Given the description of an element on the screen output the (x, y) to click on. 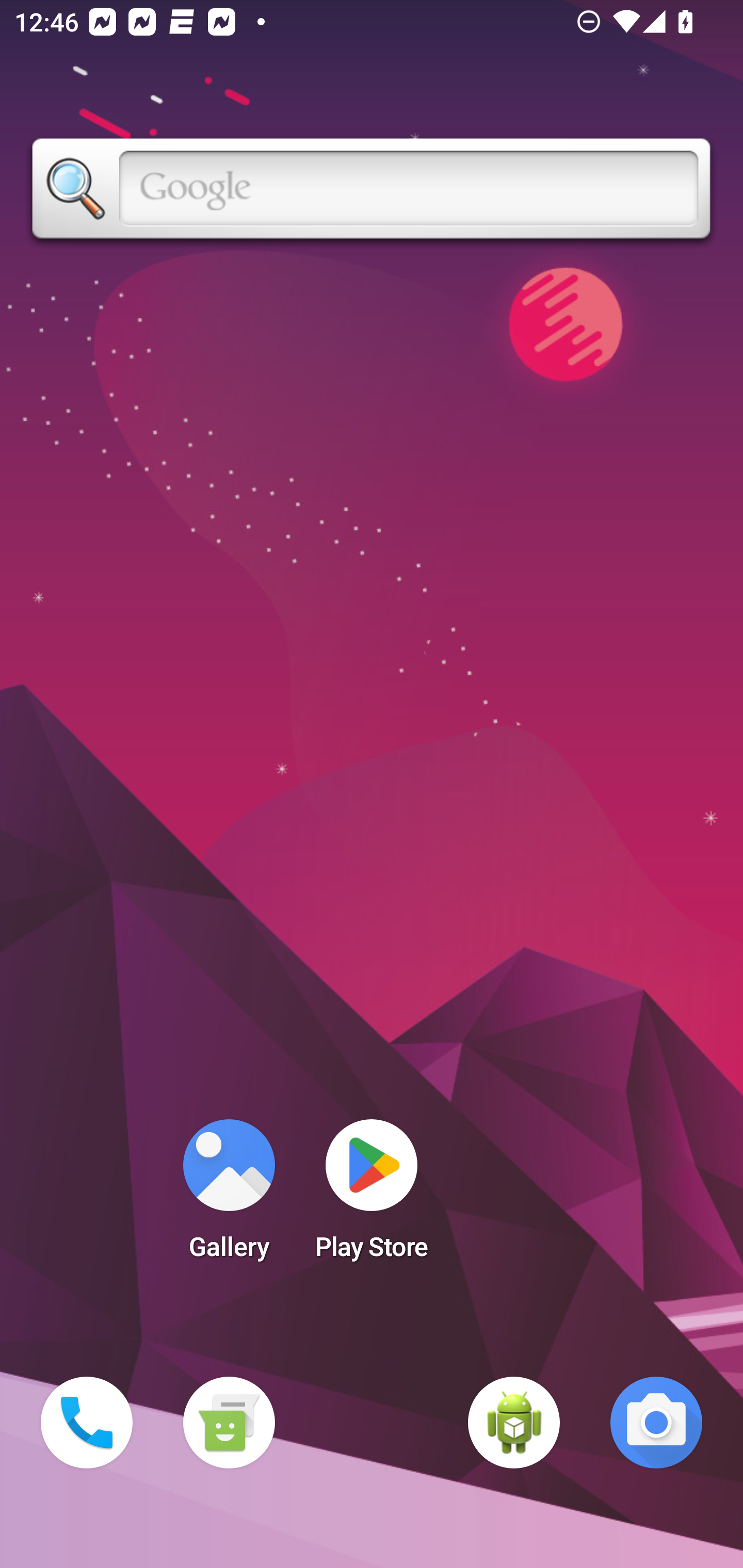
Gallery (228, 1195)
Play Store (371, 1195)
Phone (86, 1422)
Messaging (228, 1422)
WebView Browser Tester (513, 1422)
Camera (656, 1422)
